Given the description of an element on the screen output the (x, y) to click on. 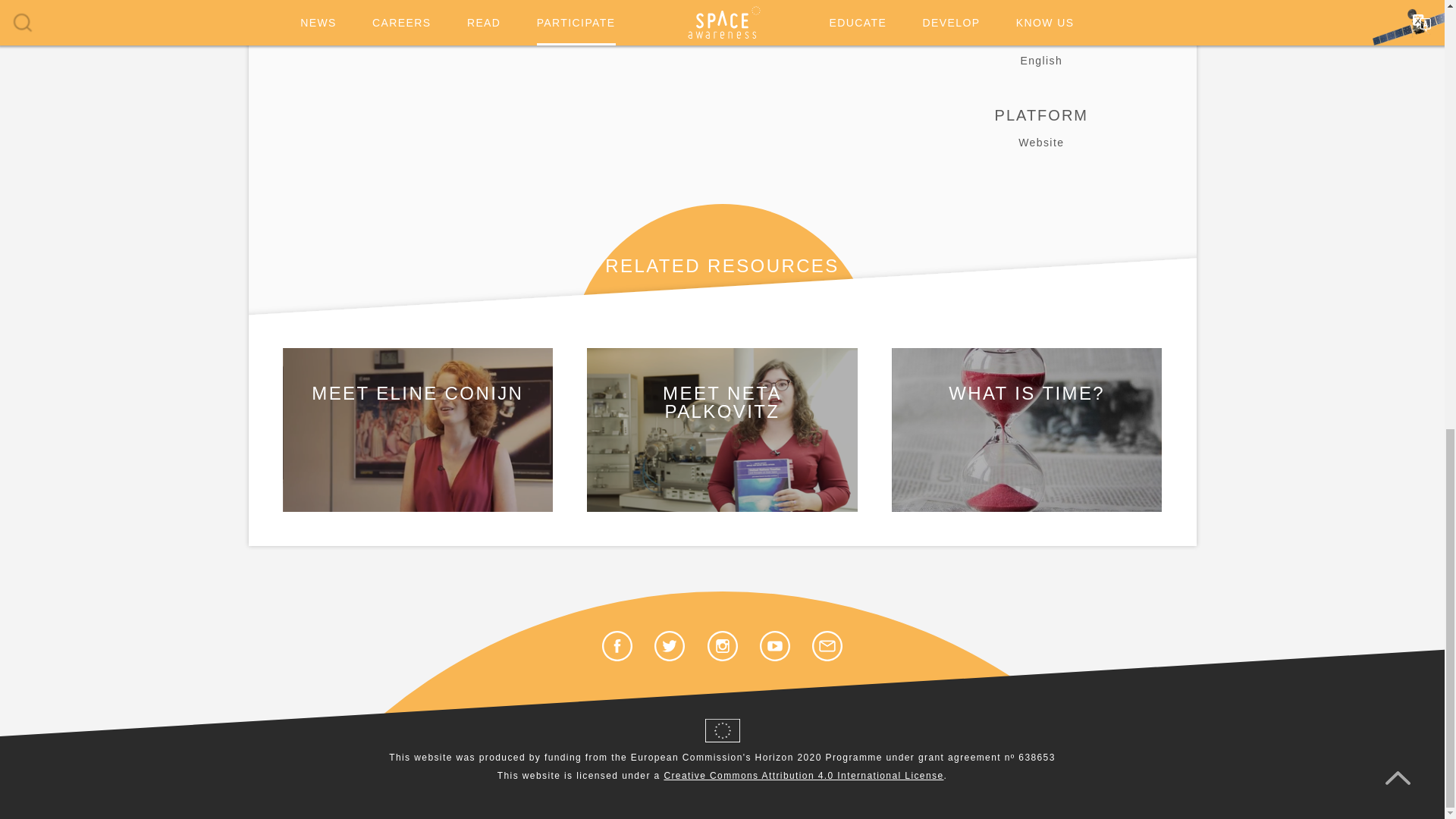
MEET ELINE CONIJN (417, 429)
MEET NETA PALKOVITZ (721, 429)
Creative Commons Attribution 4.0 International License (803, 775)
WHAT IS TIME? (1026, 429)
